Given the description of an element on the screen output the (x, y) to click on. 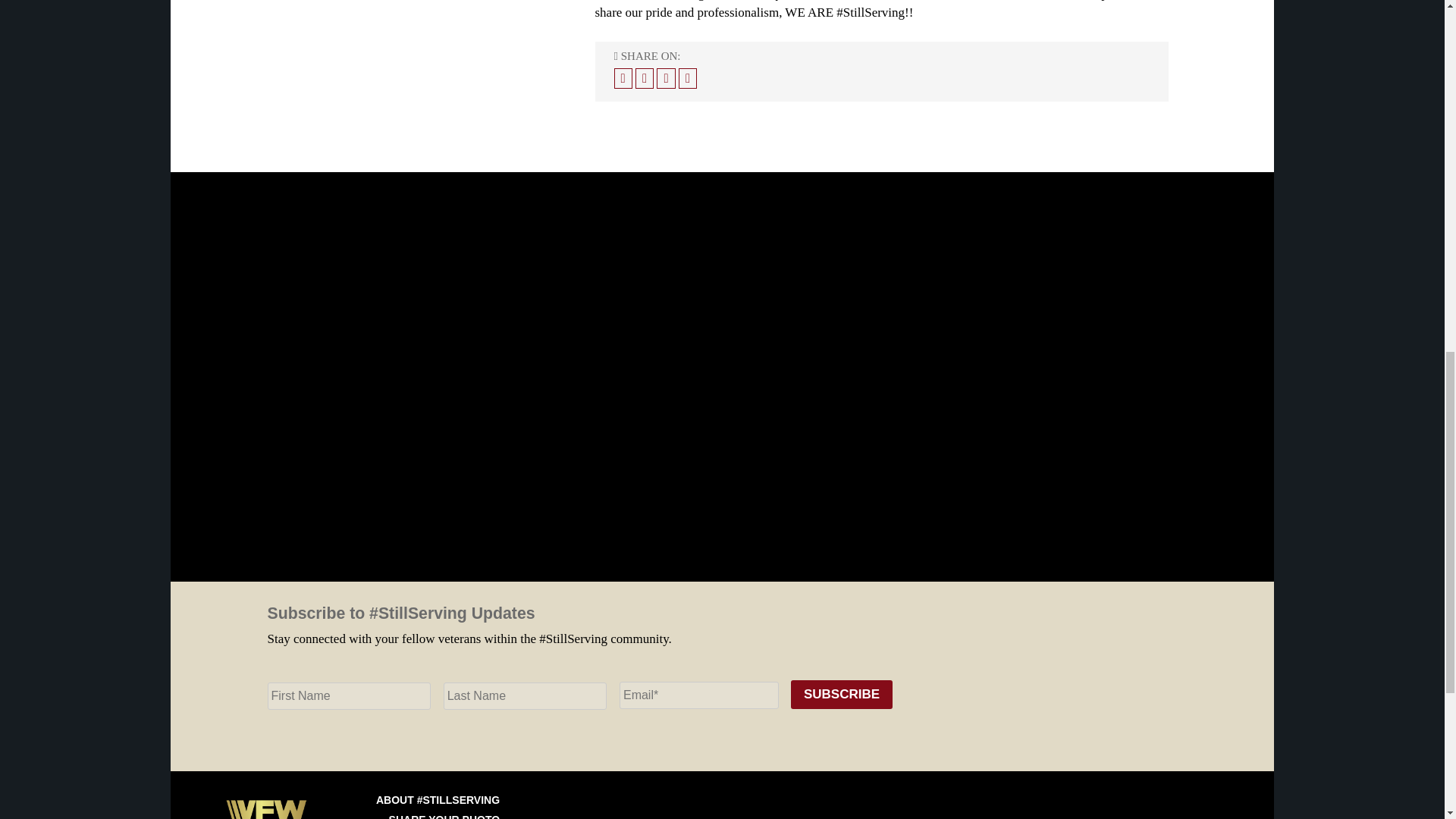
SUBSCRIBE (841, 694)
SUBSCRIBE (841, 694)
SHARE YOUR PHOTO (444, 816)
